Given the description of an element on the screen output the (x, y) to click on. 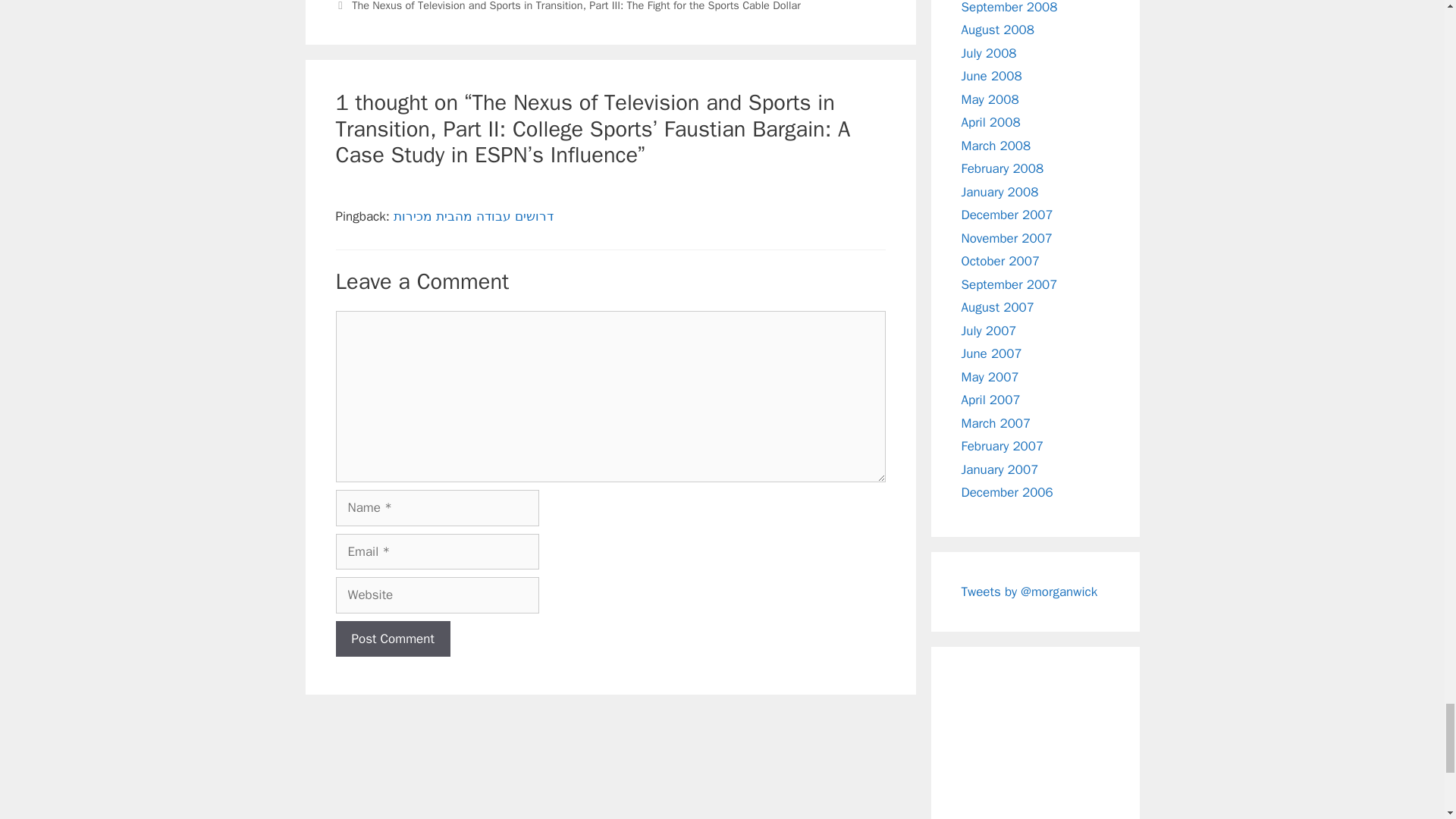
Post Comment (391, 638)
Post Comment (391, 638)
